Given the description of an element on the screen output the (x, y) to click on. 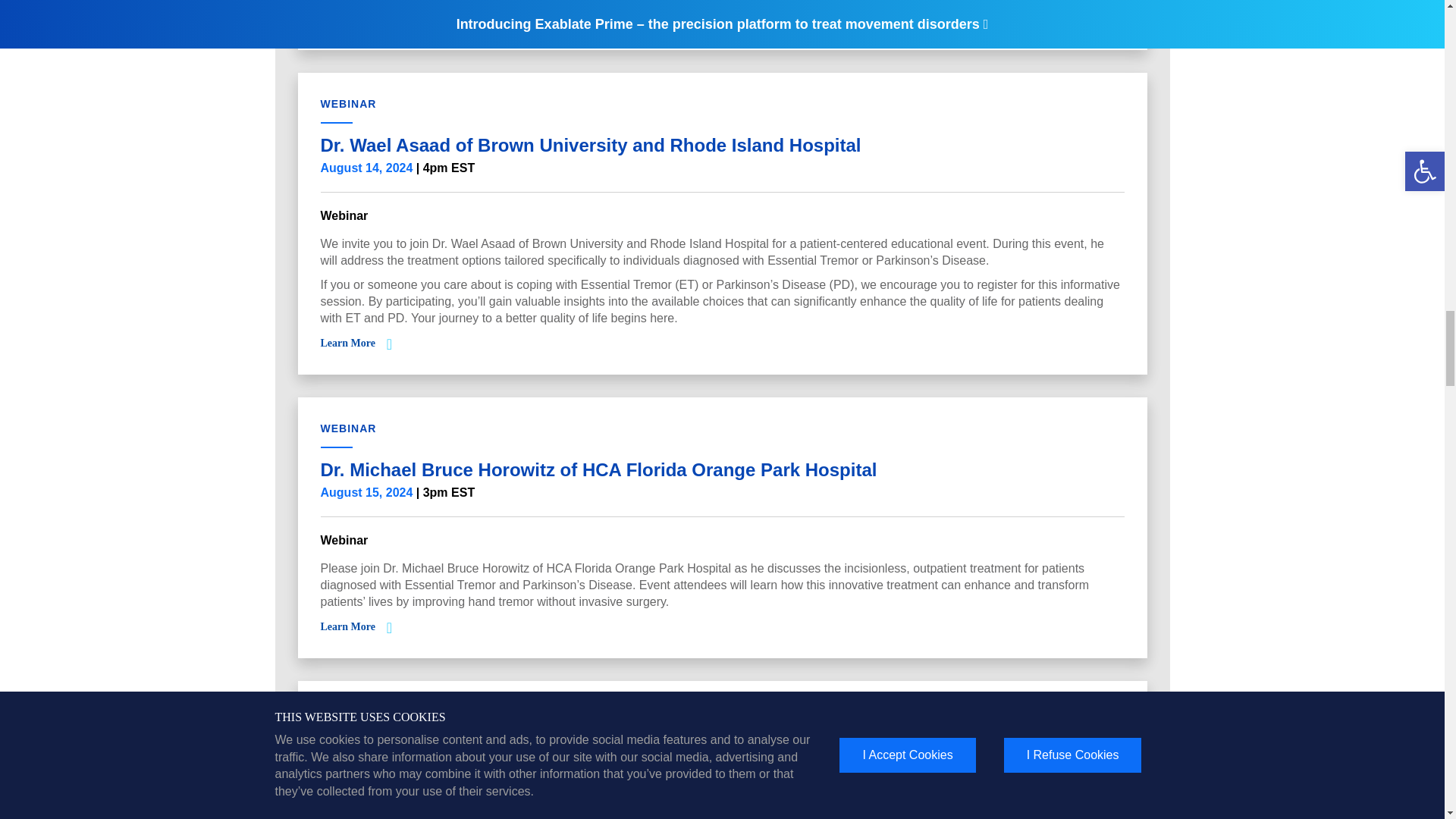
Learn More (347, 18)
Learn More (347, 342)
Learn More (347, 626)
